Given the description of an element on the screen output the (x, y) to click on. 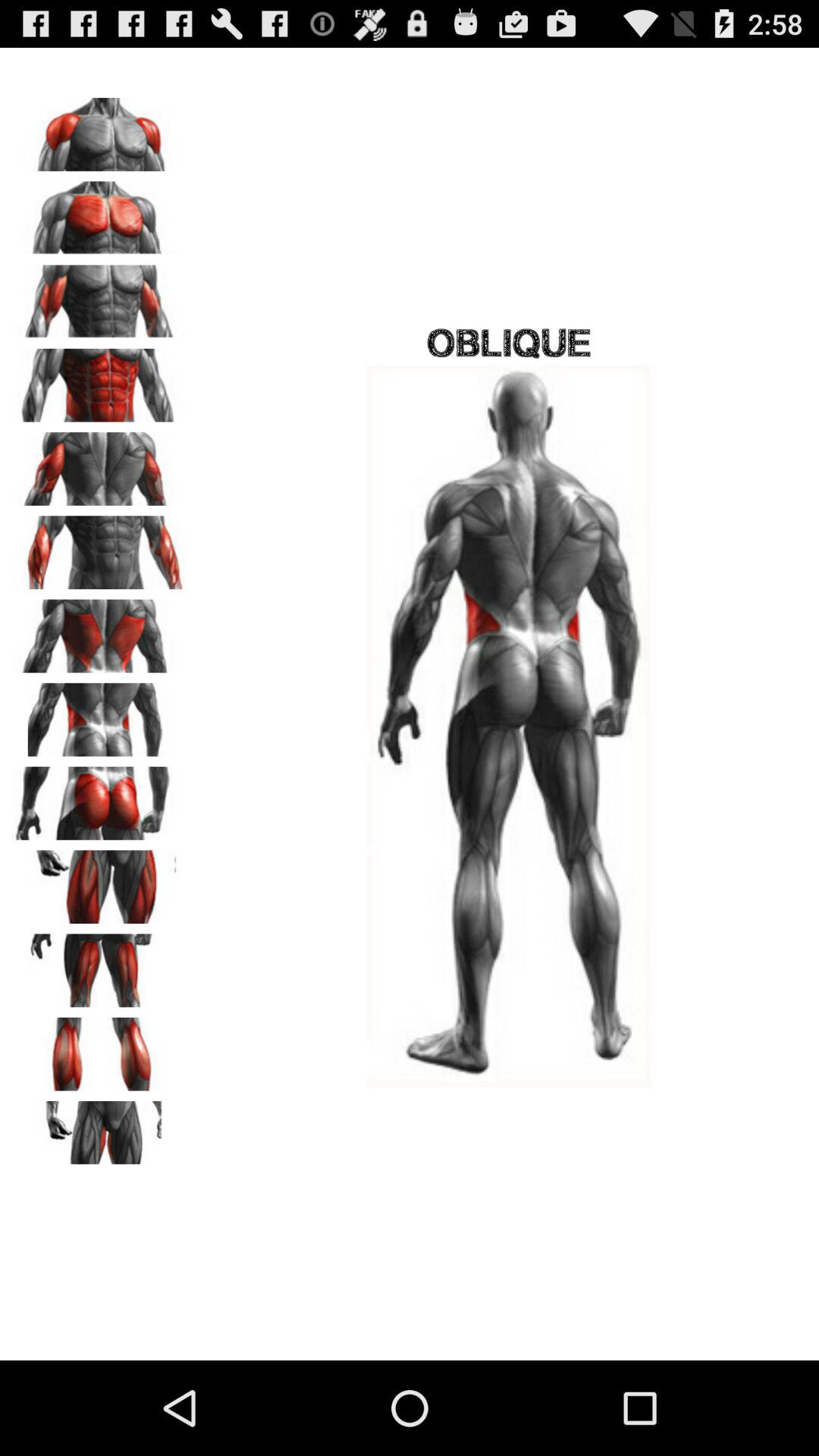
choose body part biceps (99, 296)
